Given the description of an element on the screen output the (x, y) to click on. 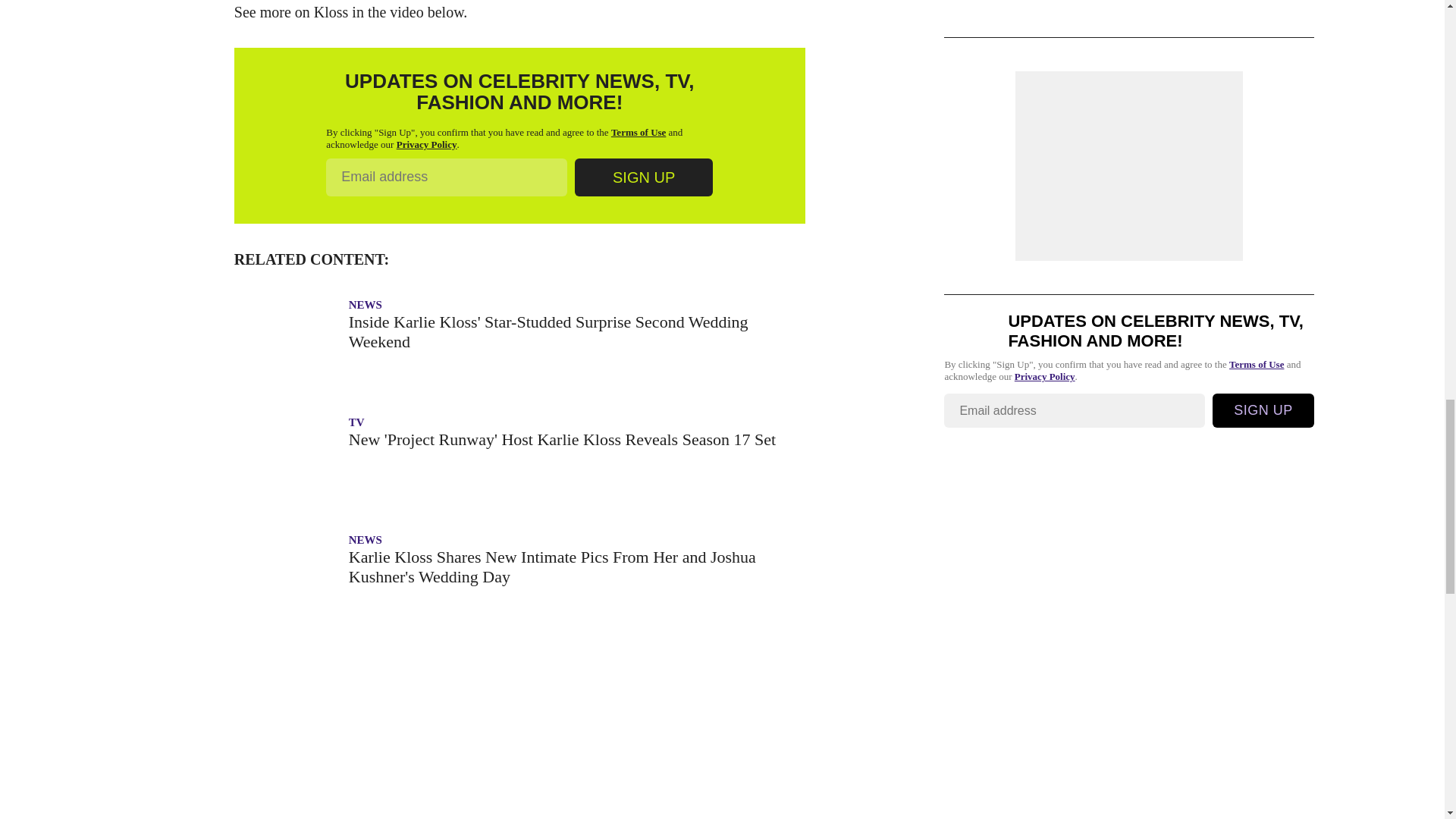
Privacy Policy (426, 143)
Terms of Use (638, 132)
SIGN UP (644, 177)
